Given the description of an element on the screen output the (x, y) to click on. 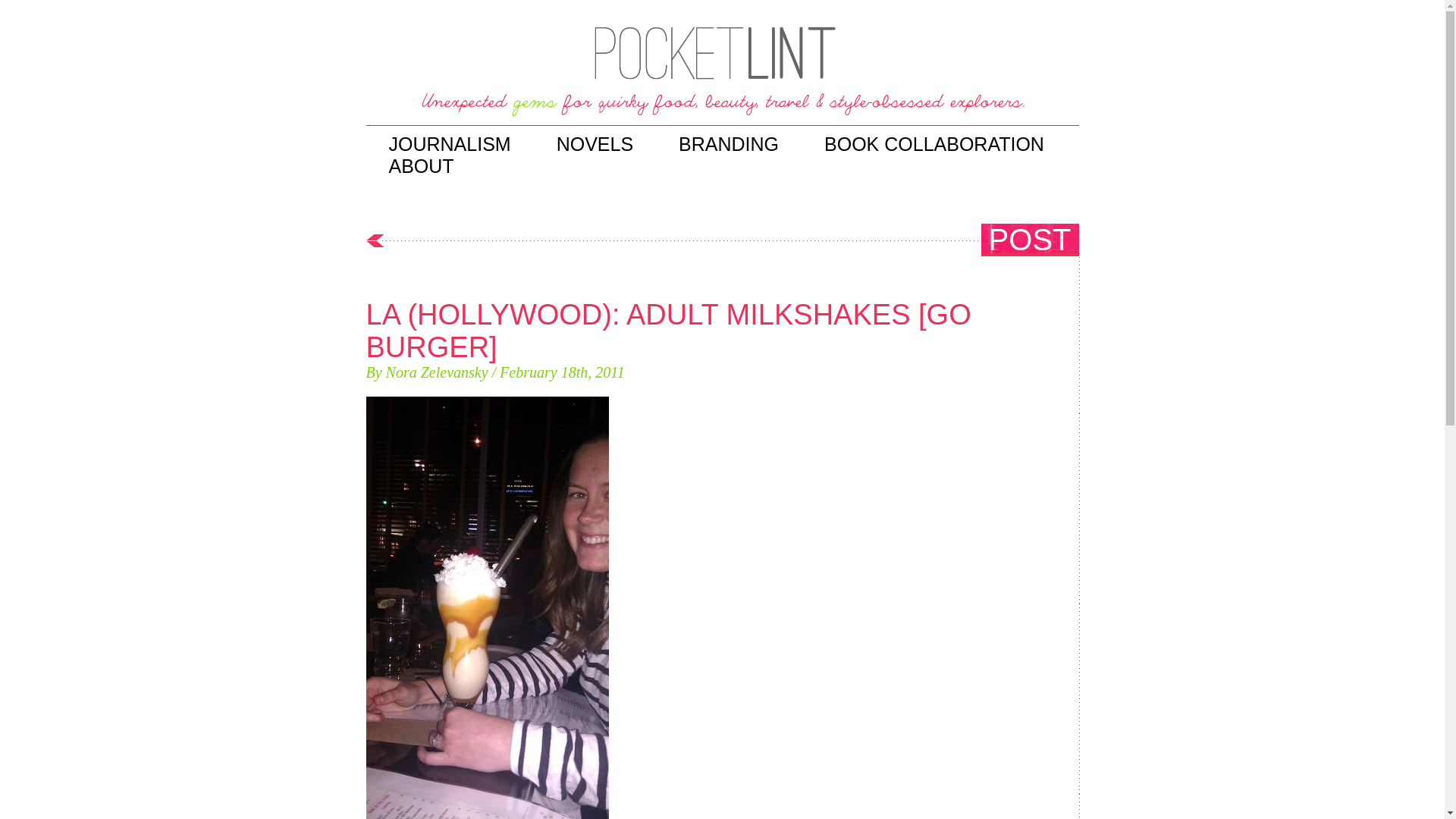
ABOUT (420, 165)
BOOK COLLABORATION (933, 143)
NOVELS (594, 143)
BRANDING (728, 143)
JOURNALISM (449, 143)
